Given the description of an element on the screen output the (x, y) to click on. 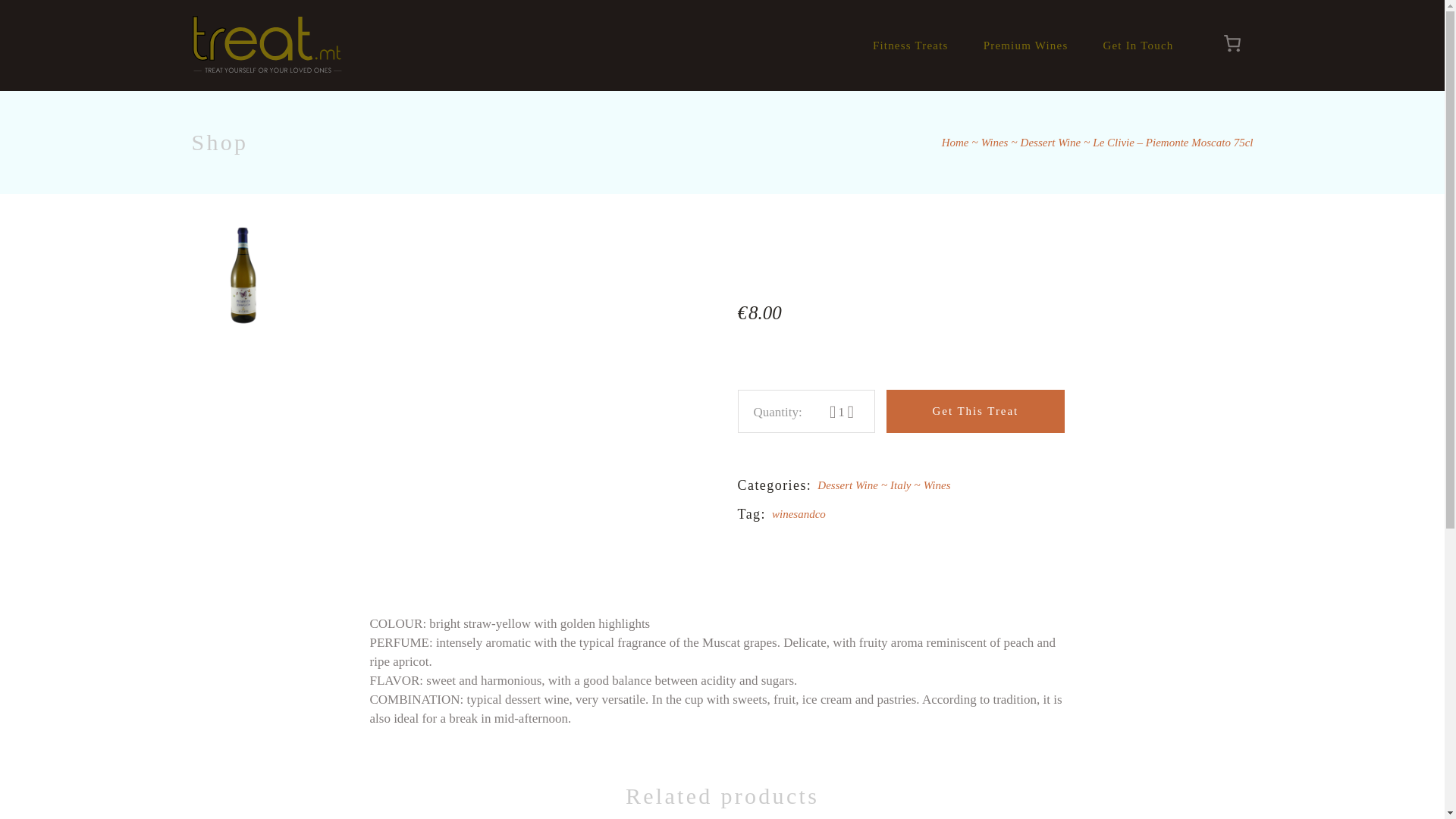
Fitness Treats (910, 45)
Qty (840, 411)
Wines (936, 485)
winesandco (798, 513)
1 (840, 411)
Italy (906, 485)
Get In Touch (1137, 45)
Le-Clivie-Piemonte-Moscato.jpg (242, 275)
Dessert Wine (1050, 142)
Premium Wines (1026, 45)
Wines (995, 142)
Home (955, 142)
Dessert Wine (852, 485)
Get This Treat (974, 411)
